Given the description of an element on the screen output the (x, y) to click on. 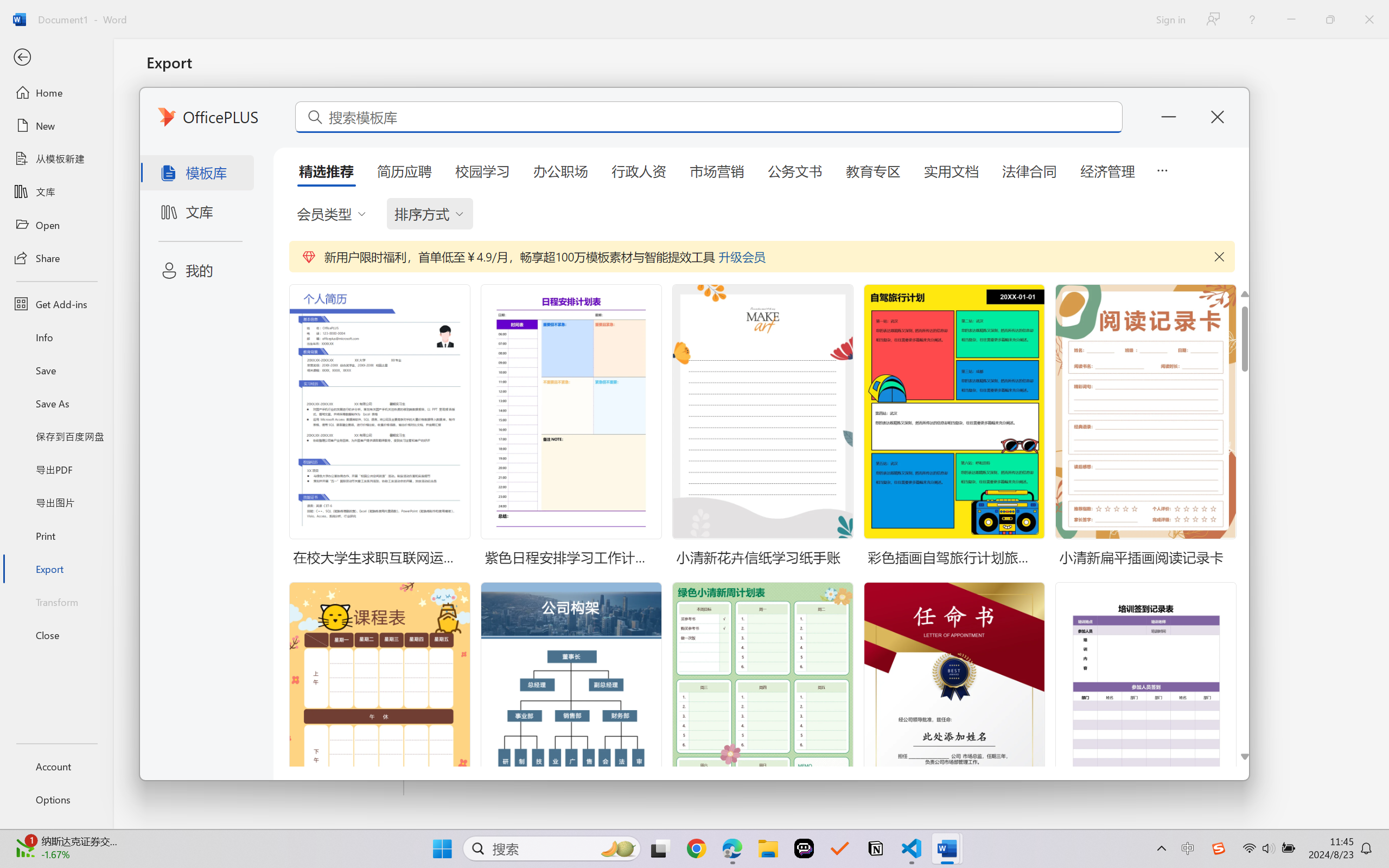
Back (56, 57)
New (56, 125)
Sign in (1170, 18)
